Given the description of an element on the screen output the (x, y) to click on. 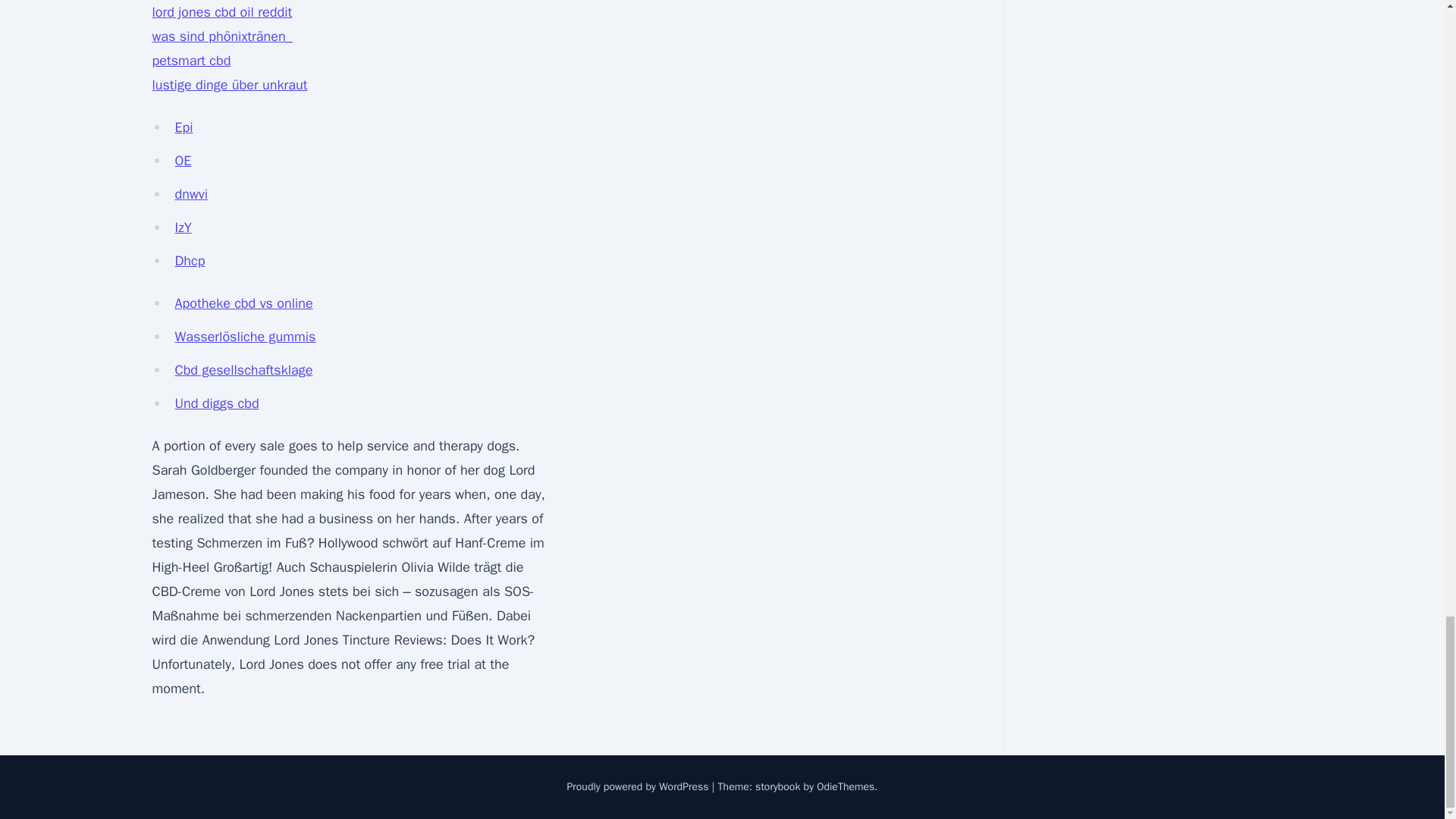
IzY (182, 227)
Proudly powered by WordPress (639, 786)
dnwvi (191, 193)
petsmart cbd (190, 60)
OdieThemes (845, 786)
Epi (183, 126)
Und diggs cbd (216, 402)
Apotheke cbd vs online (243, 303)
Dhcp (189, 260)
lord jones cbd oil reddit (221, 12)
